Given the description of an element on the screen output the (x, y) to click on. 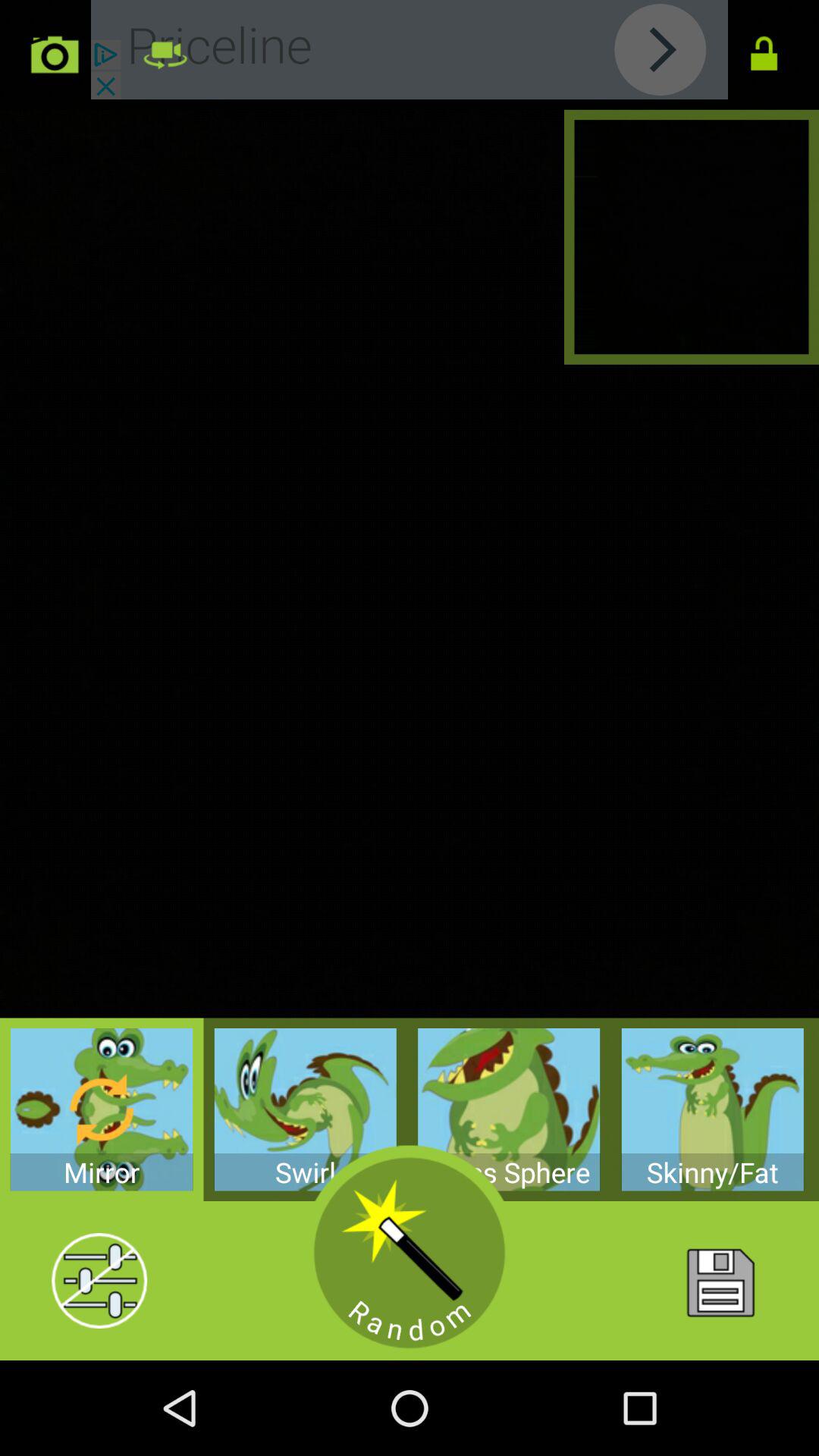
advertisement button (409, 49)
